Given the description of an element on the screen output the (x, y) to click on. 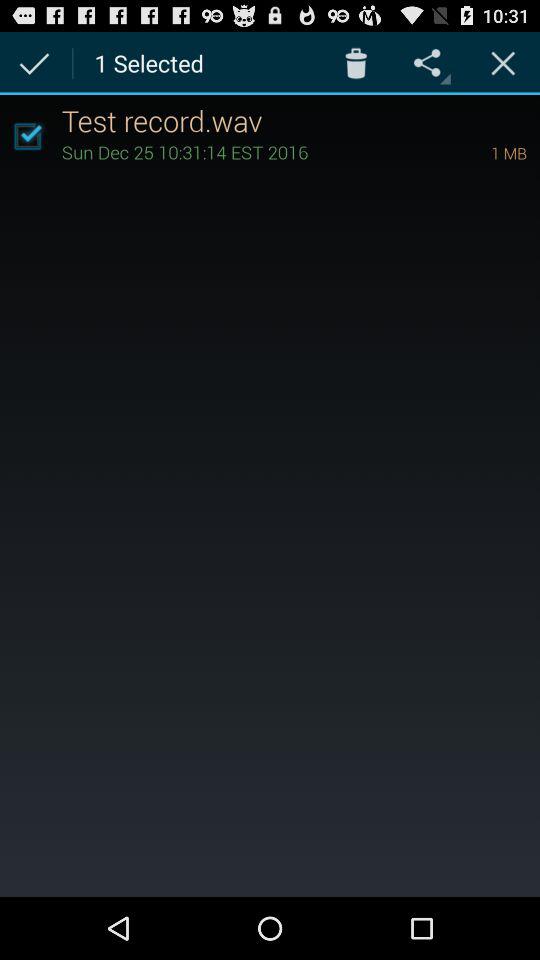
click item to the left of the test record.wav item (27, 136)
